Given the description of an element on the screen output the (x, y) to click on. 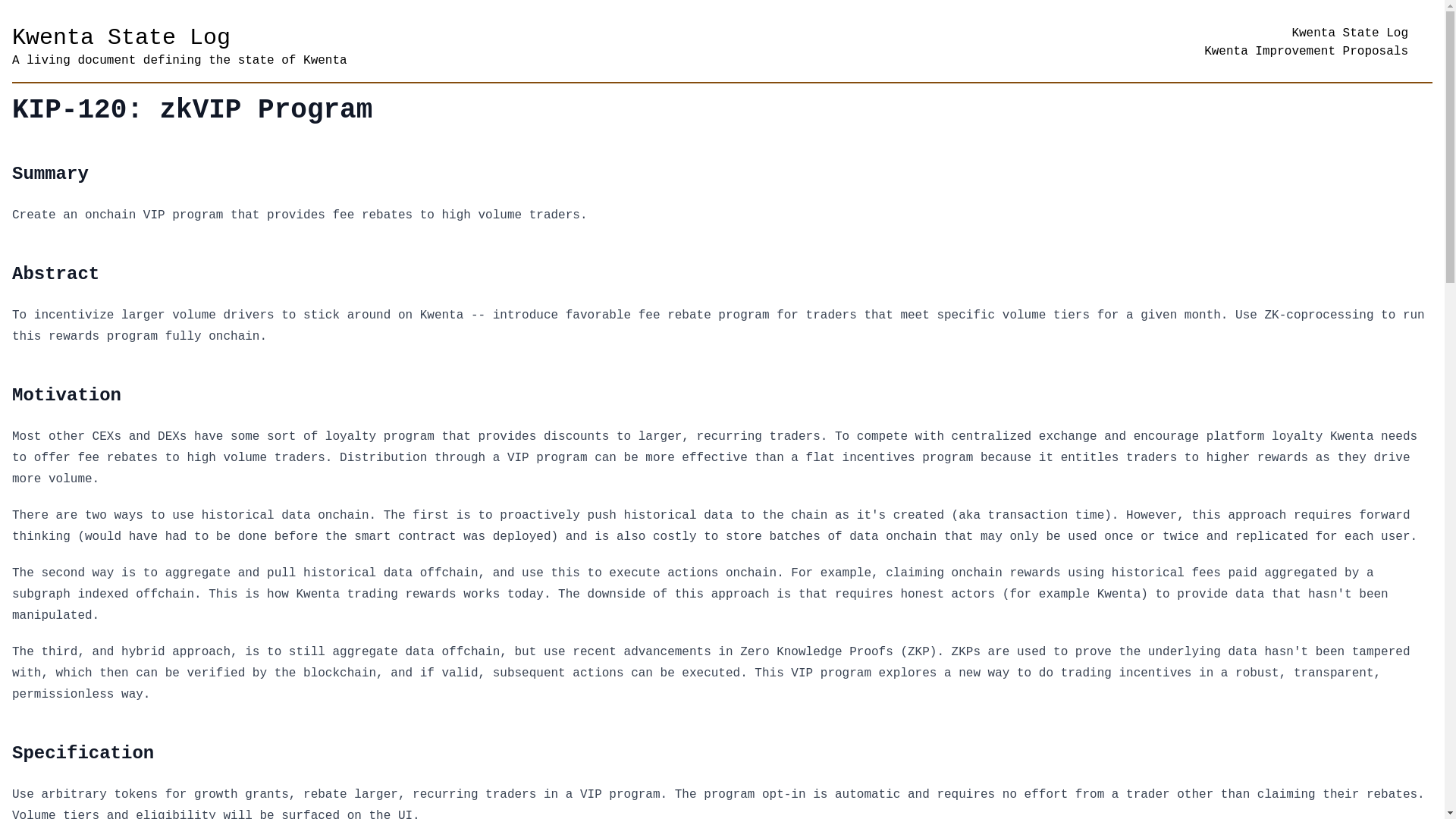
Kwenta State Log (1349, 33)
Kwenta State Log (360, 37)
Kwenta Improvement Proposals (1305, 51)
